Given the description of an element on the screen output the (x, y) to click on. 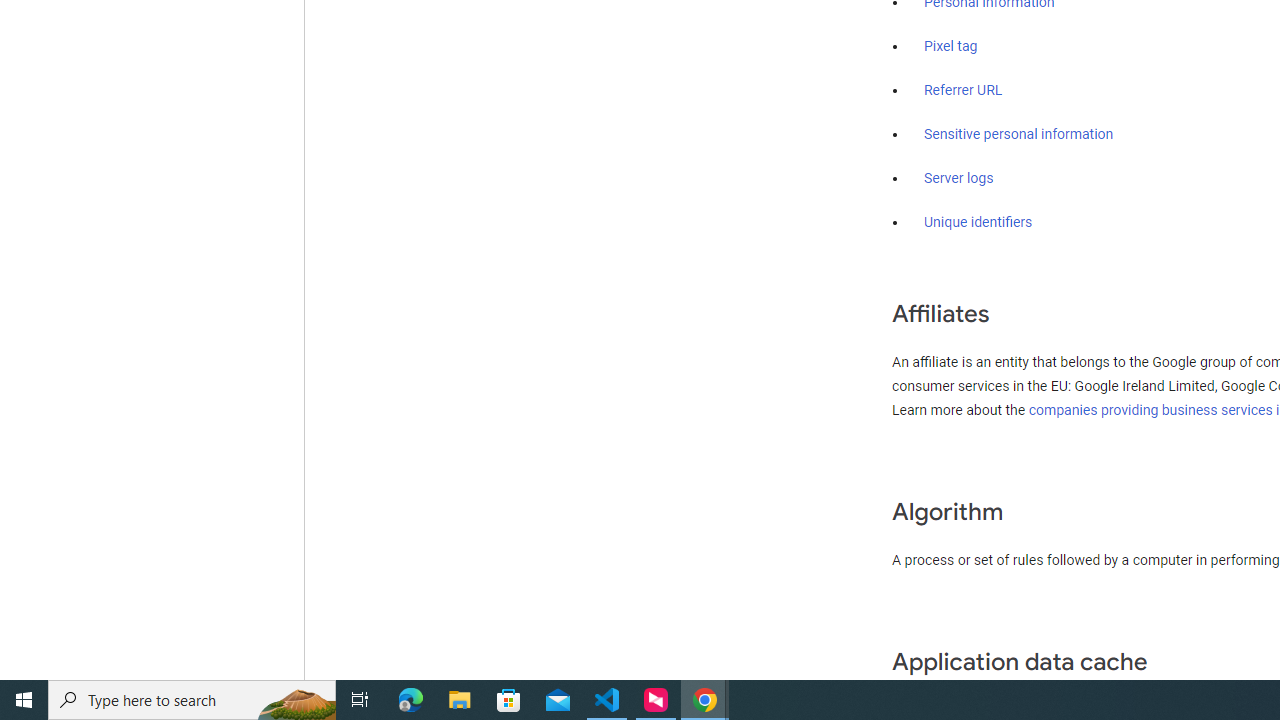
Server logs (959, 178)
Pixel tag (950, 47)
Referrer URL (963, 91)
Sensitive personal information (1018, 134)
Unique identifiers (978, 222)
